Given the description of an element on the screen output the (x, y) to click on. 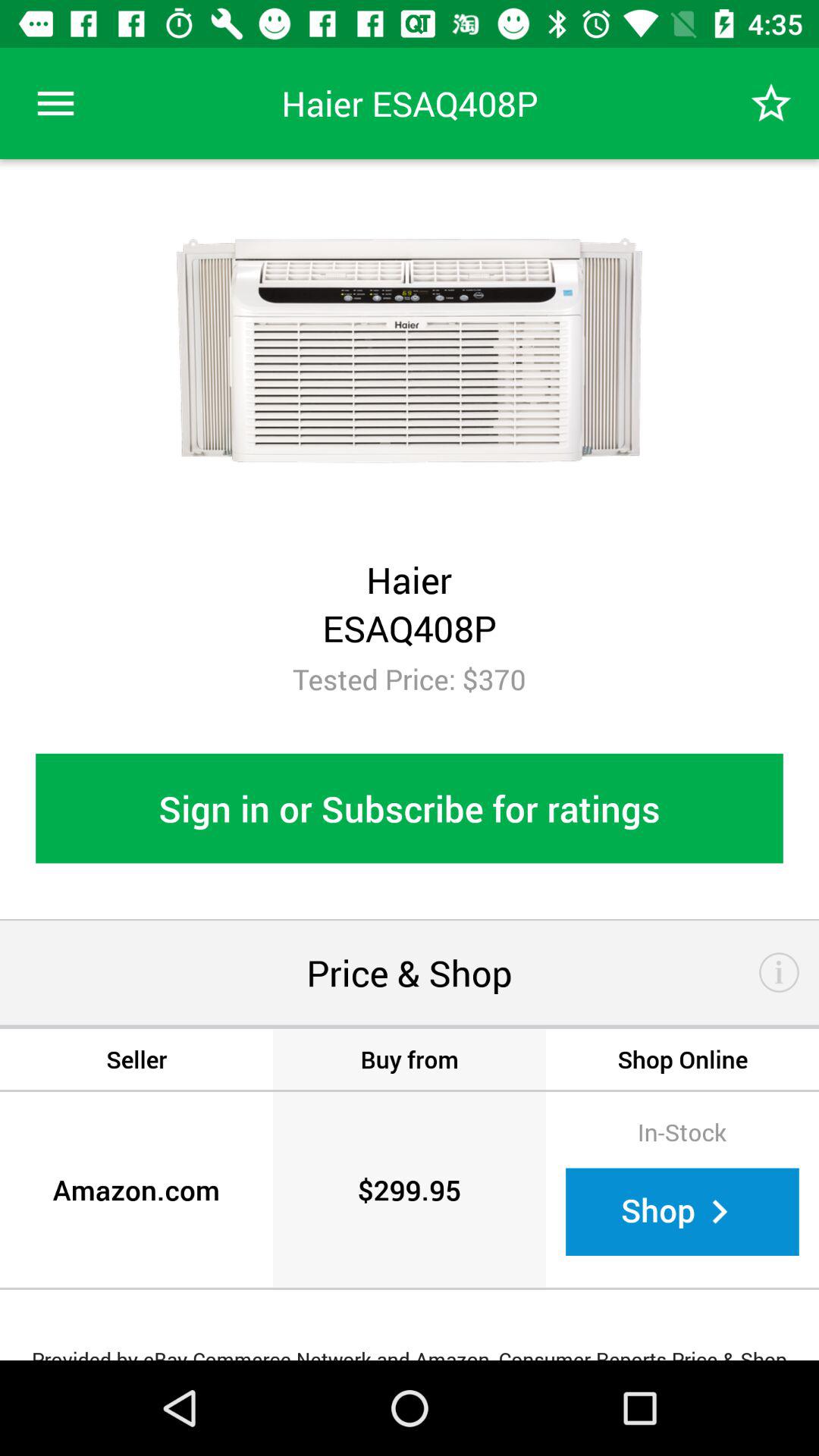
toggle for more information (779, 972)
